Given the description of an element on the screen output the (x, y) to click on. 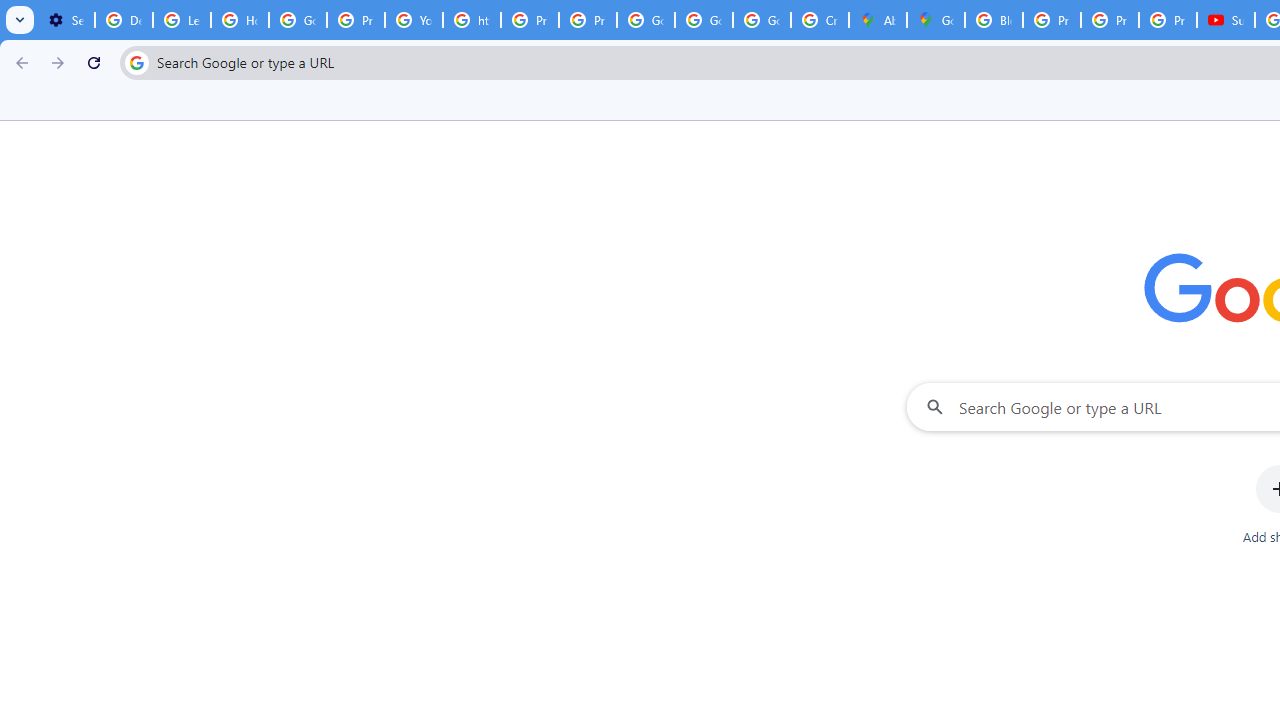
Privacy Help Center - Policies Help (1110, 20)
Settings - Customize profile (65, 20)
Delete photos & videos - Computer - Google Photos Help (123, 20)
Subscriptions - YouTube (1225, 20)
Privacy Help Center - Policies Help (529, 20)
Create your Google Account (819, 20)
